Given the description of an element on the screen output the (x, y) to click on. 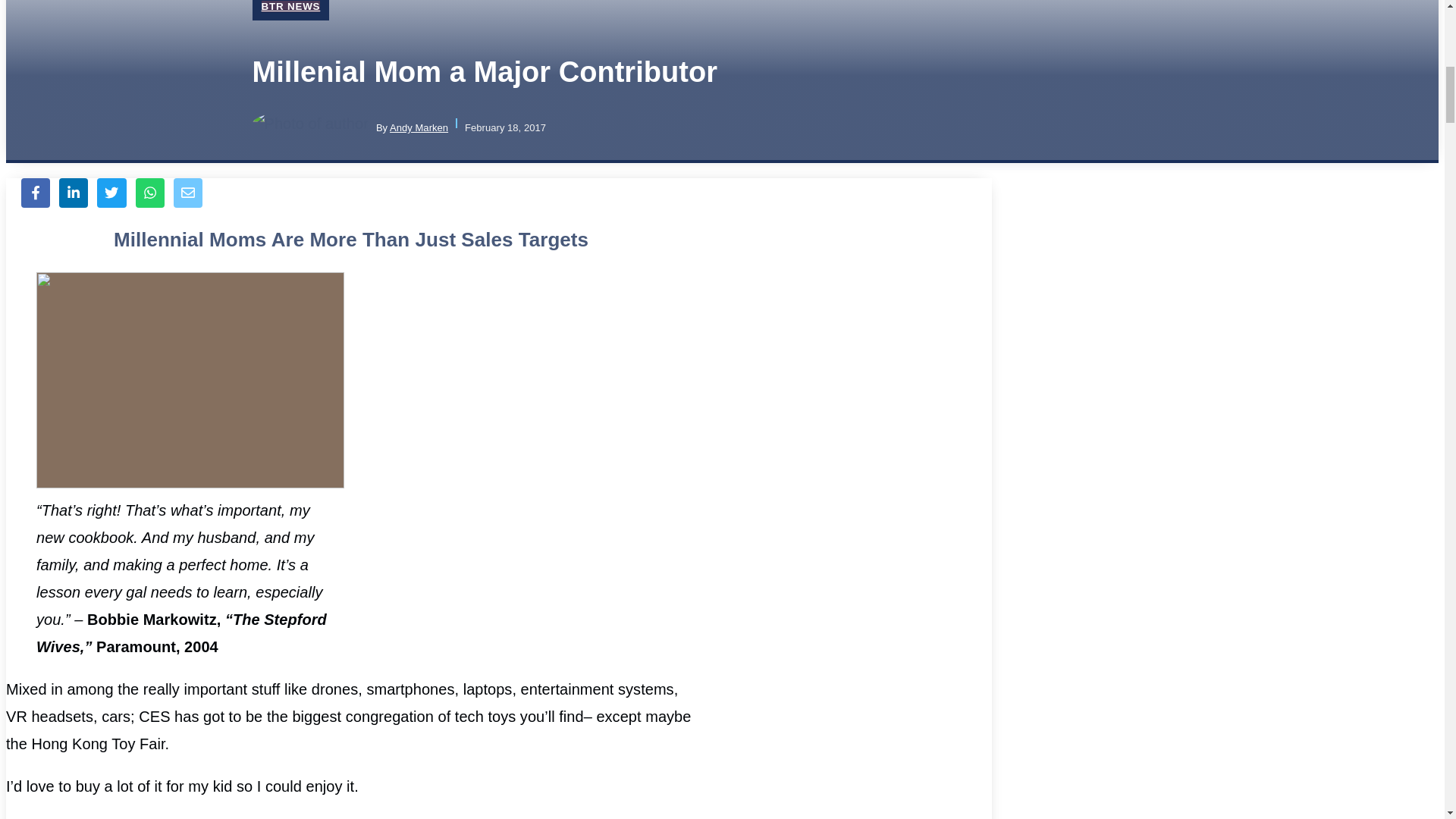
BTR NEWS (290, 6)
Andy Marken (419, 127)
Scroll back to top (1406, 720)
